Given the description of an element on the screen output the (x, y) to click on. 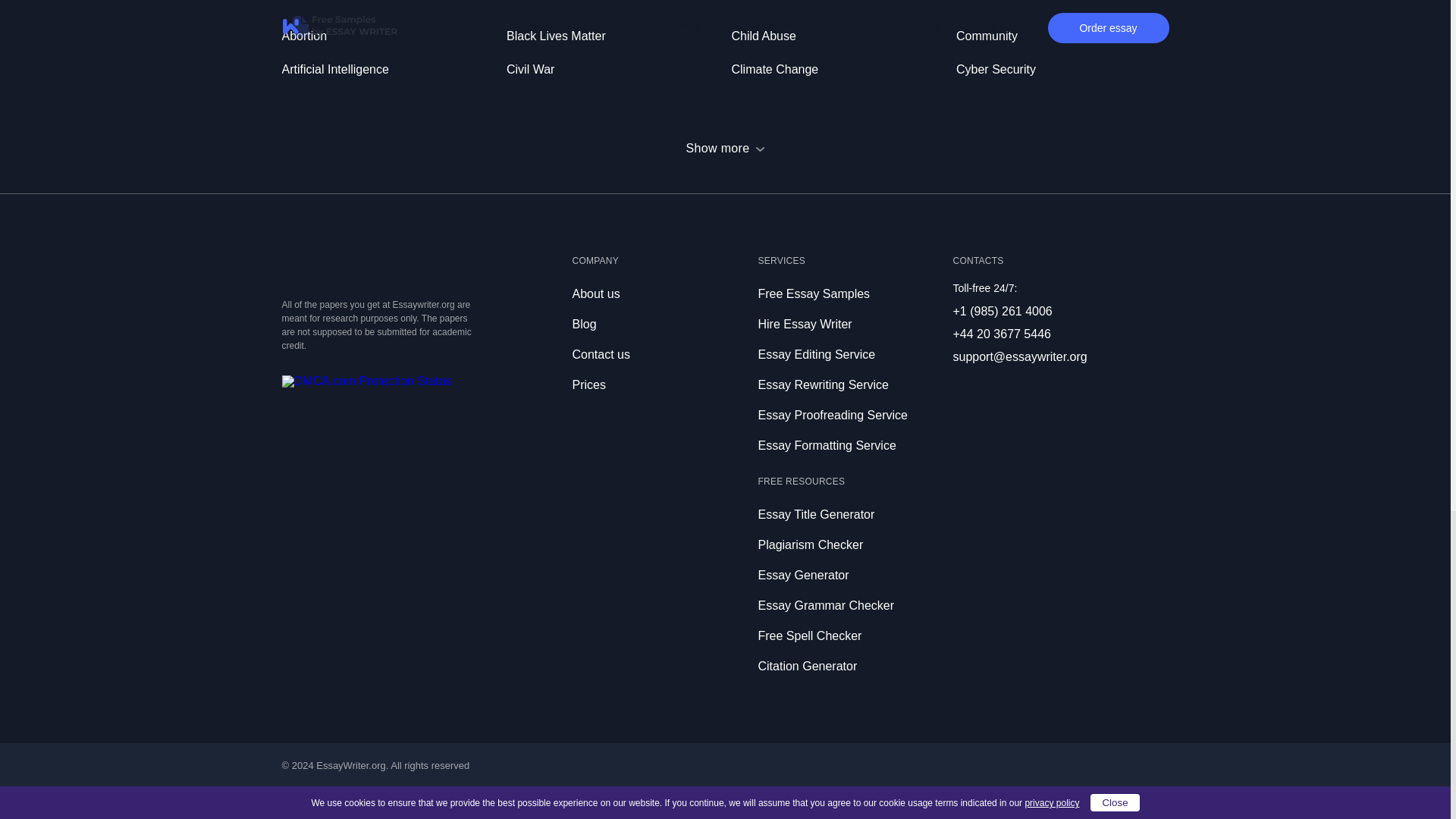
DMCA.com Protection Status (366, 380)
